Given the description of an element on the screen output the (x, y) to click on. 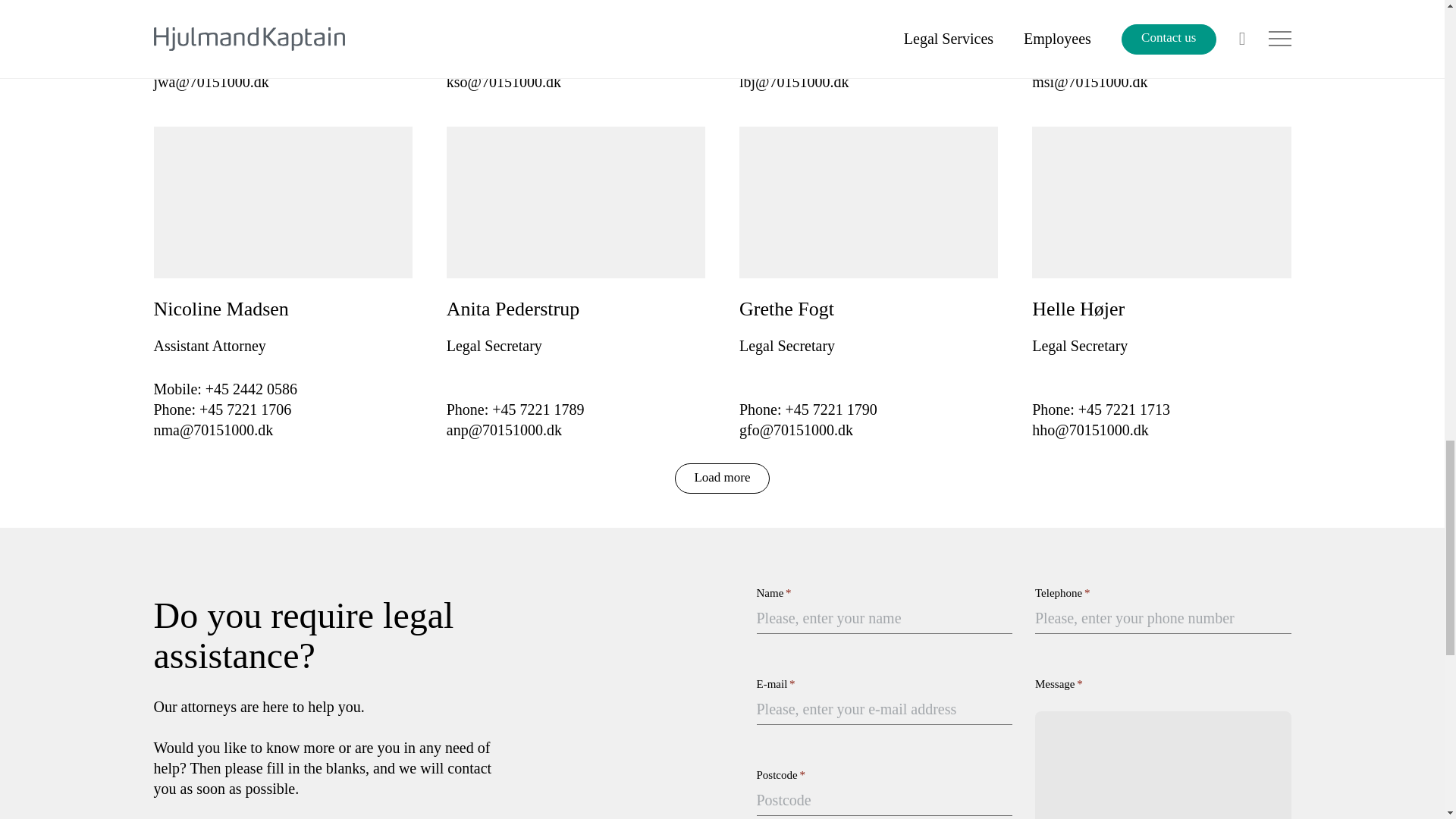
Load more (722, 478)
